Given the description of an element on the screen output the (x, y) to click on. 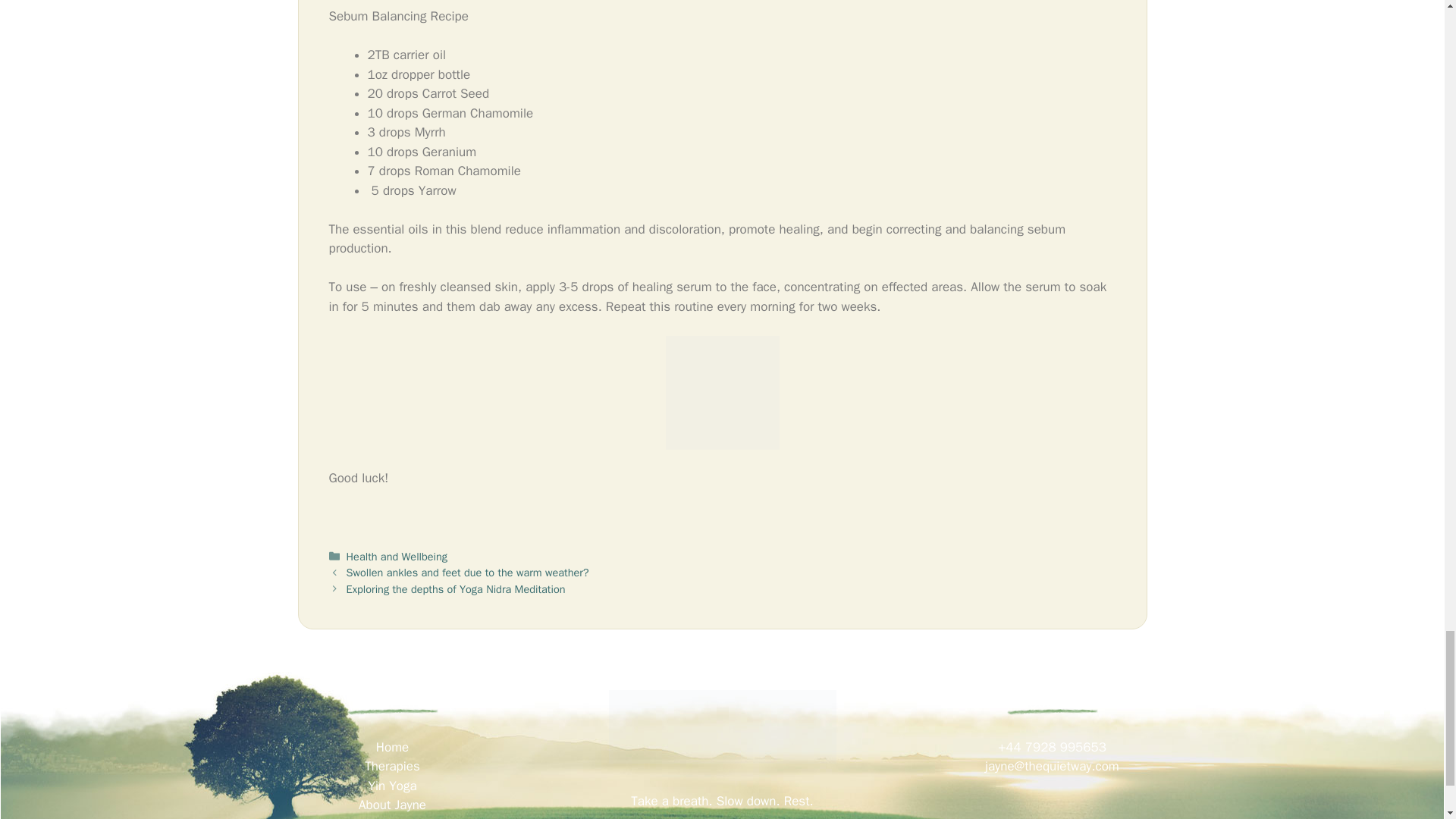
Health and Wellbeing (396, 556)
Therapies (392, 765)
Home (392, 747)
Offerings (391, 817)
Swollen ankles and feet due to the warm weather? (467, 572)
Exploring the depths of Yoga Nidra Meditation (456, 589)
About Jayne (392, 804)
Yin Yoga (392, 785)
